Given the description of an element on the screen output the (x, y) to click on. 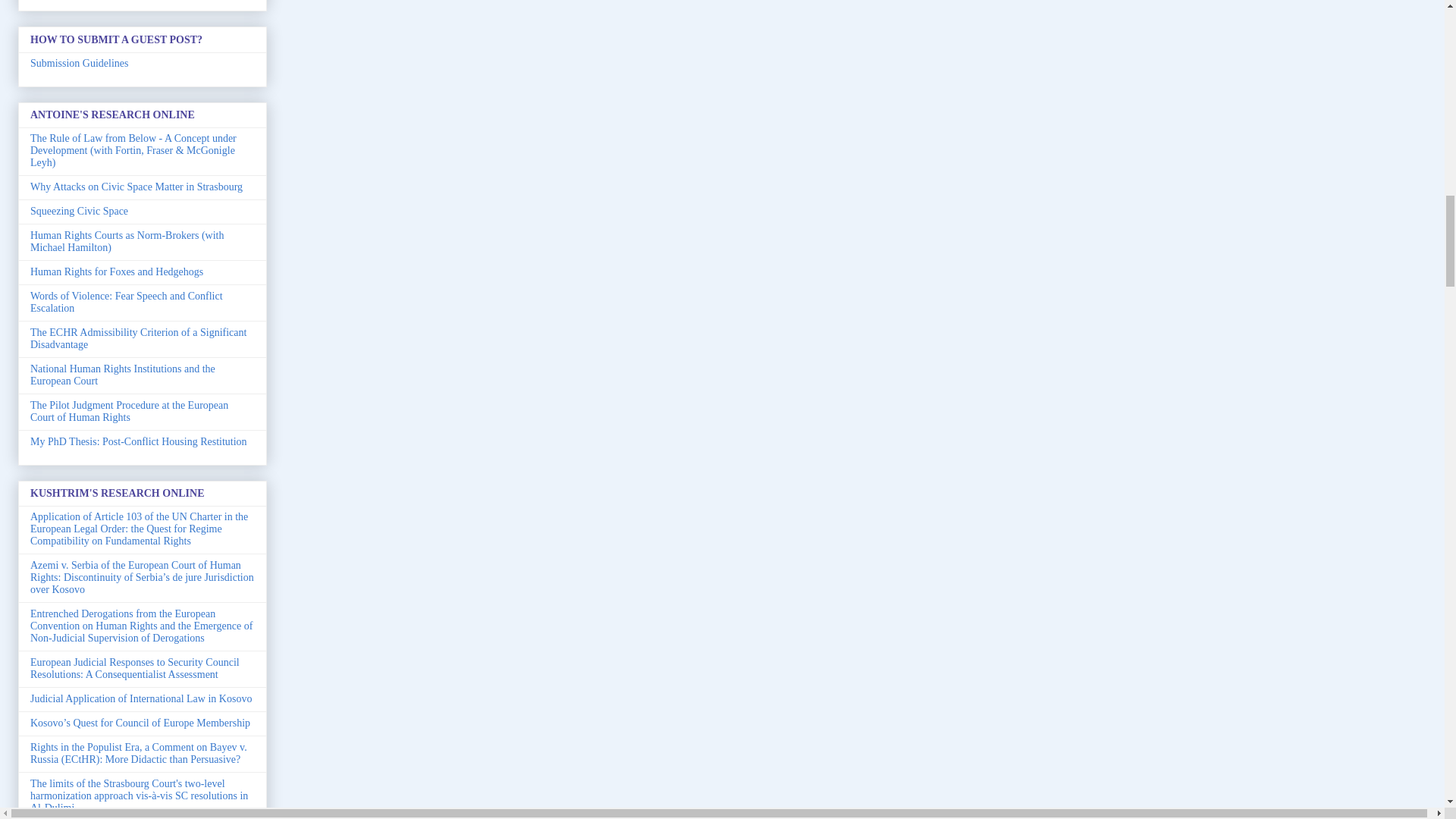
Why Attacks on Civic Space Matter in Strasbourg (136, 186)
Submission Guidelines (79, 62)
Words of Violence: Fear Speech and Conflict Escalation (126, 301)
Judicial Application of International Law in Kosovo (140, 698)
Human Rights for Foxes and Hedgehogs (116, 271)
Squeezing Civic Space (79, 211)
My PhD Thesis: Post-Conflict Housing Restitution (138, 441)
National Human Rights Institutions and the European Court (122, 374)
